Given the description of an element on the screen output the (x, y) to click on. 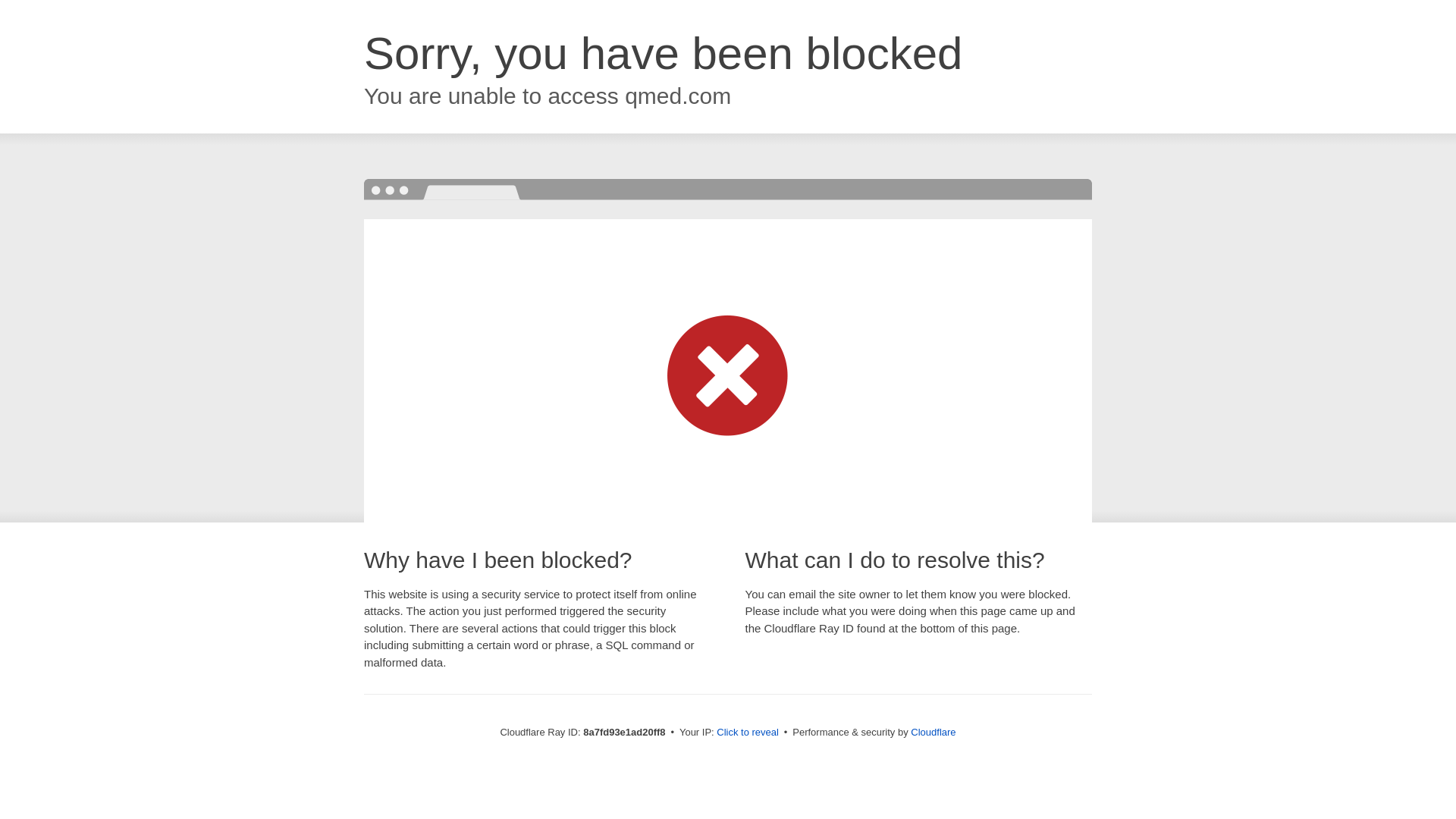
Cloudflare (933, 731)
Click to reveal (747, 732)
